Given the description of an element on the screen output the (x, y) to click on. 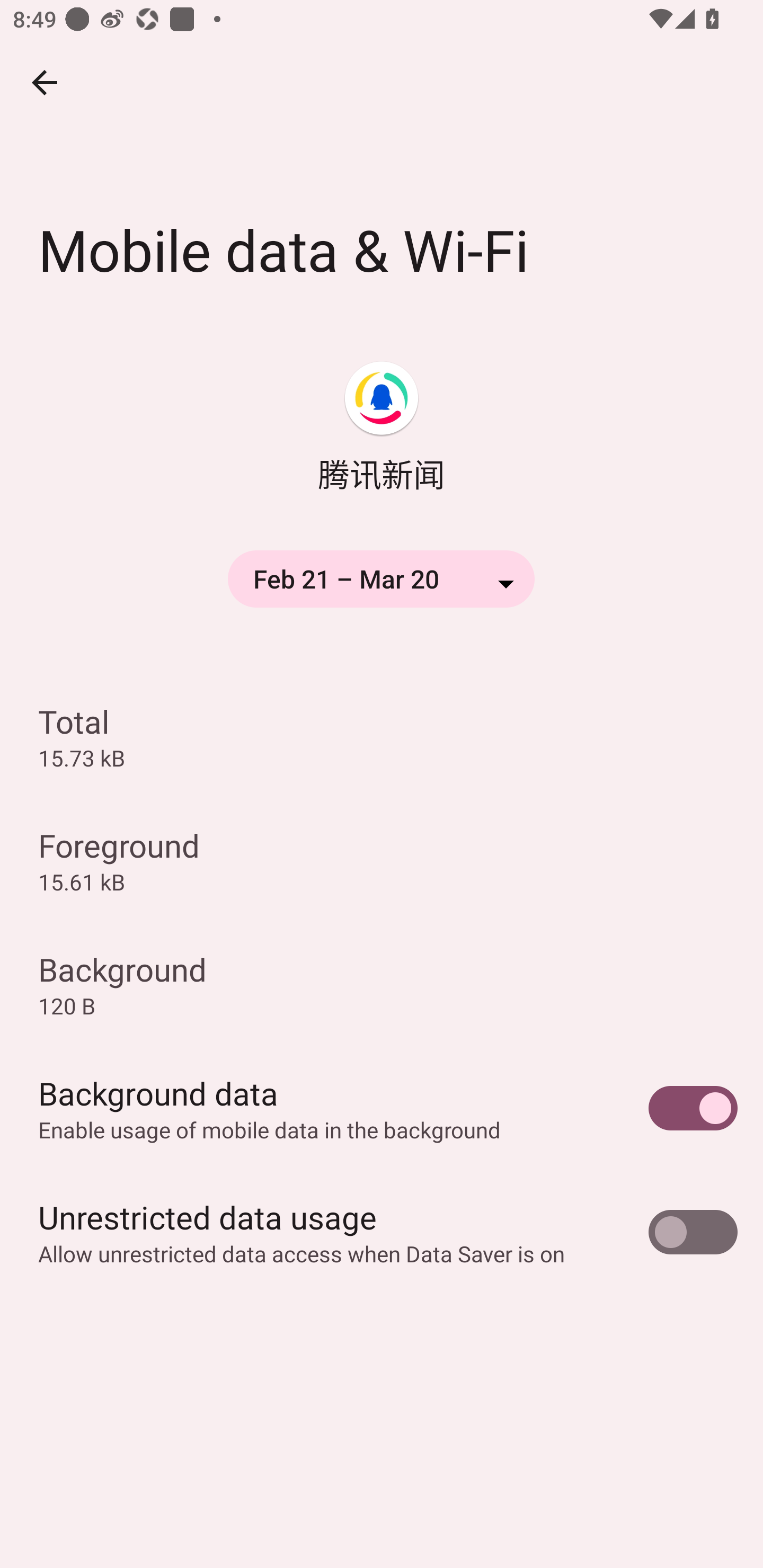
Navigate up (44, 82)
腾讯新闻 (381, 428)
Feb 21 – Mar 20 (381, 578)
